Given the description of an element on the screen output the (x, y) to click on. 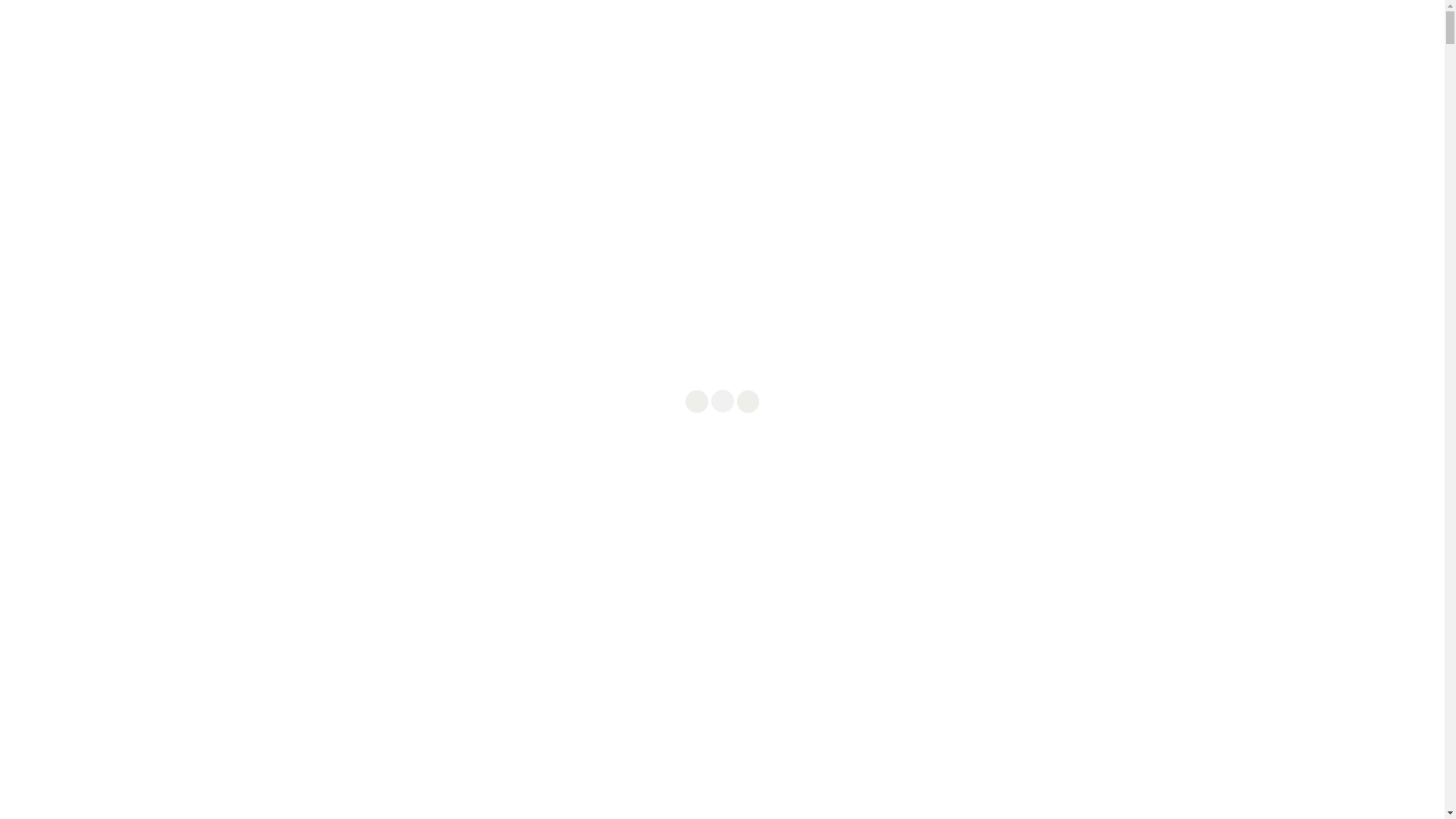
Meer weten? Element type: text (898, 808)
OVER ONS Element type: text (1050, 56)
BESTELLEN Element type: text (1128, 56)
ONS MENU Element type: text (970, 56)
